Given the description of an element on the screen output the (x, y) to click on. 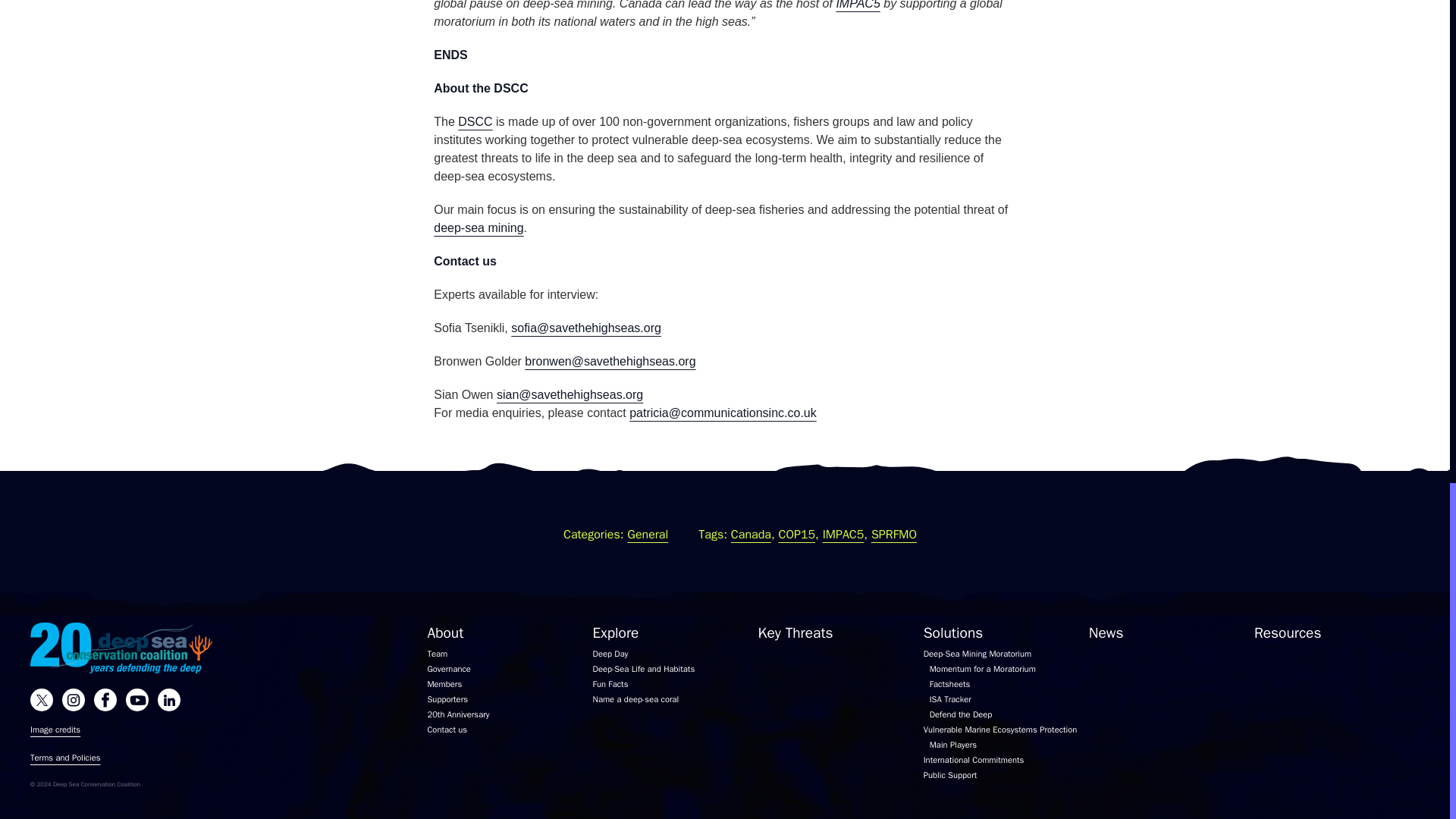
Connect with DSCC on YouTube (141, 699)
Connect with DSCC on Instagram (78, 699)
Connect with DSCC on LinkedIn (173, 699)
Connect with DSCC on LinkedIn (109, 699)
Follow DSCC on Twitter (46, 699)
